Given the description of an element on the screen output the (x, y) to click on. 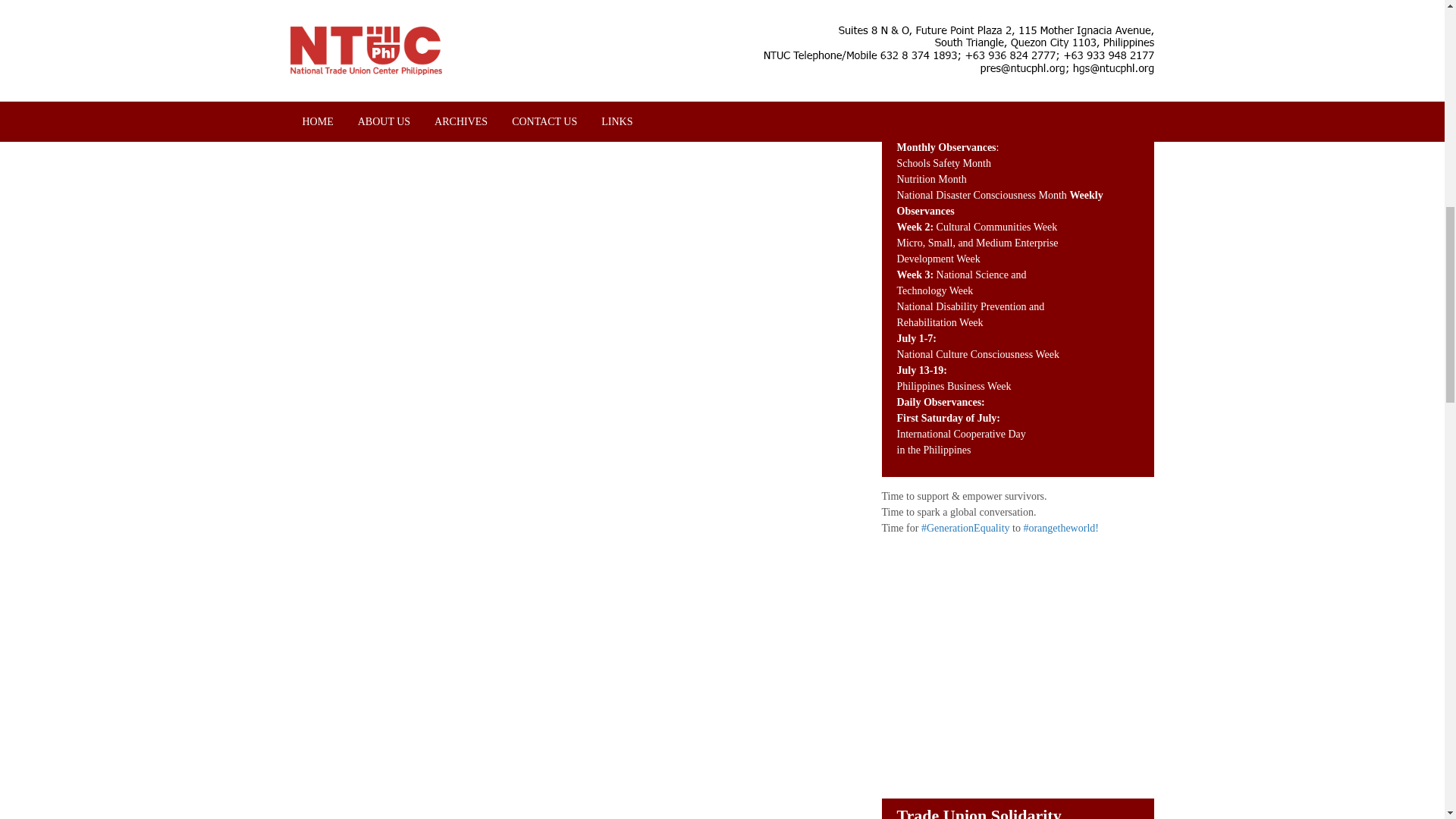
World Population Day  (986, 28)
World Youth Skills Day (988, 43)
